Given the description of an element on the screen output the (x, y) to click on. 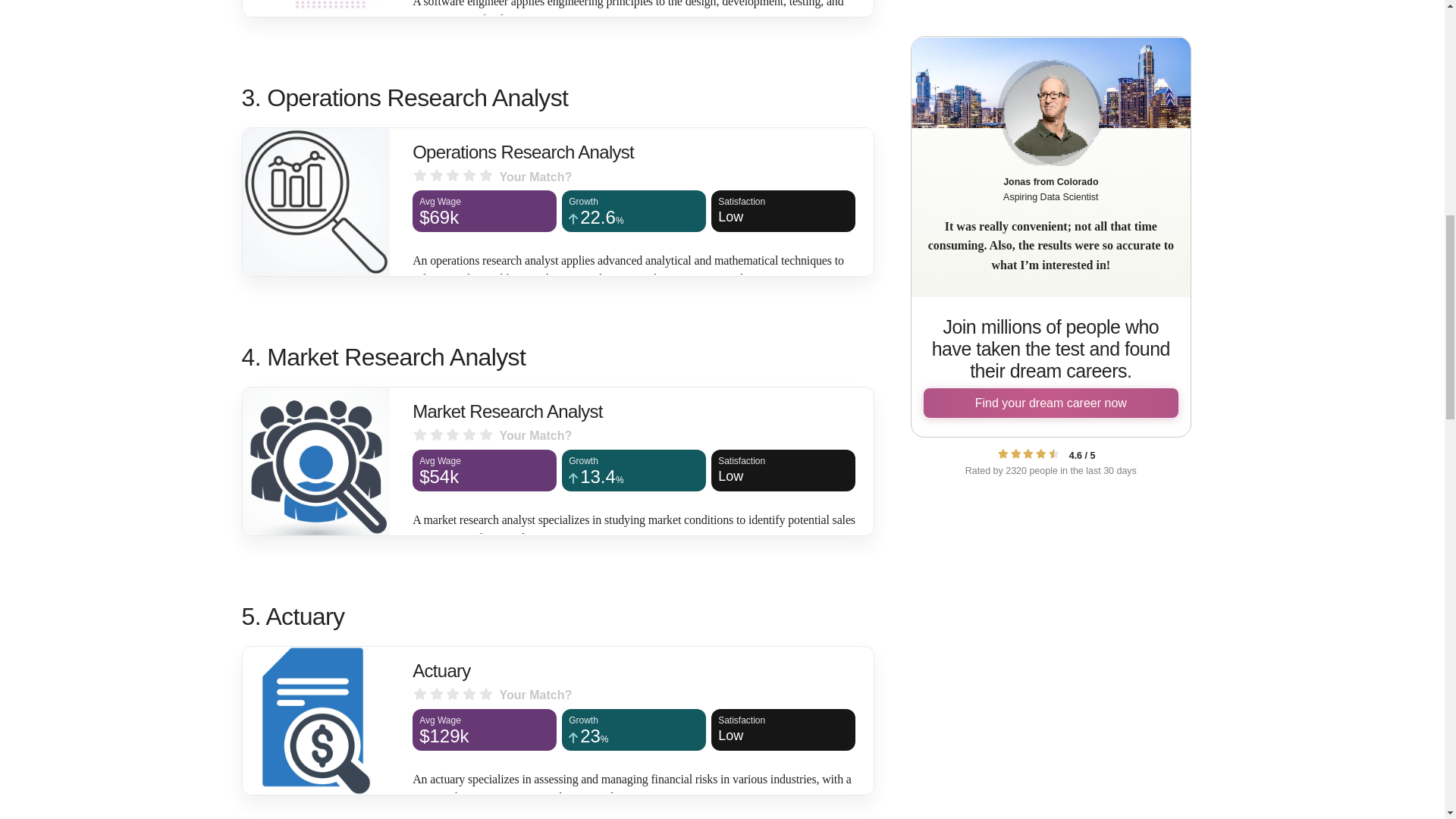
23.0 (633, 737)
13.423900529587844 (633, 478)
22.56596906278435 (783, 730)
